Given the description of an element on the screen output the (x, y) to click on. 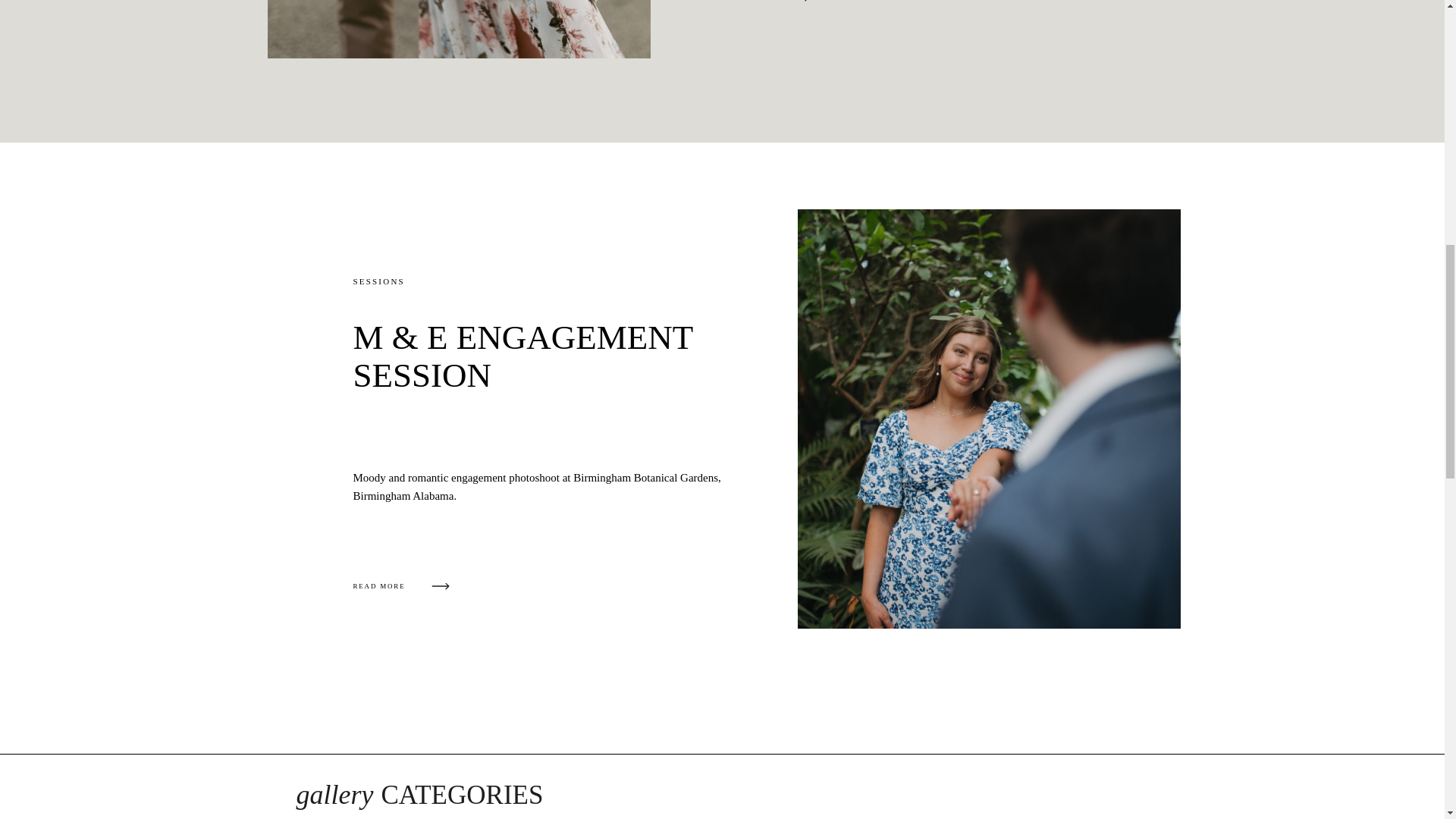
READ MORE (761, 4)
SESSIONS (378, 280)
READ MORE (402, 586)
